Given the description of an element on the screen output the (x, y) to click on. 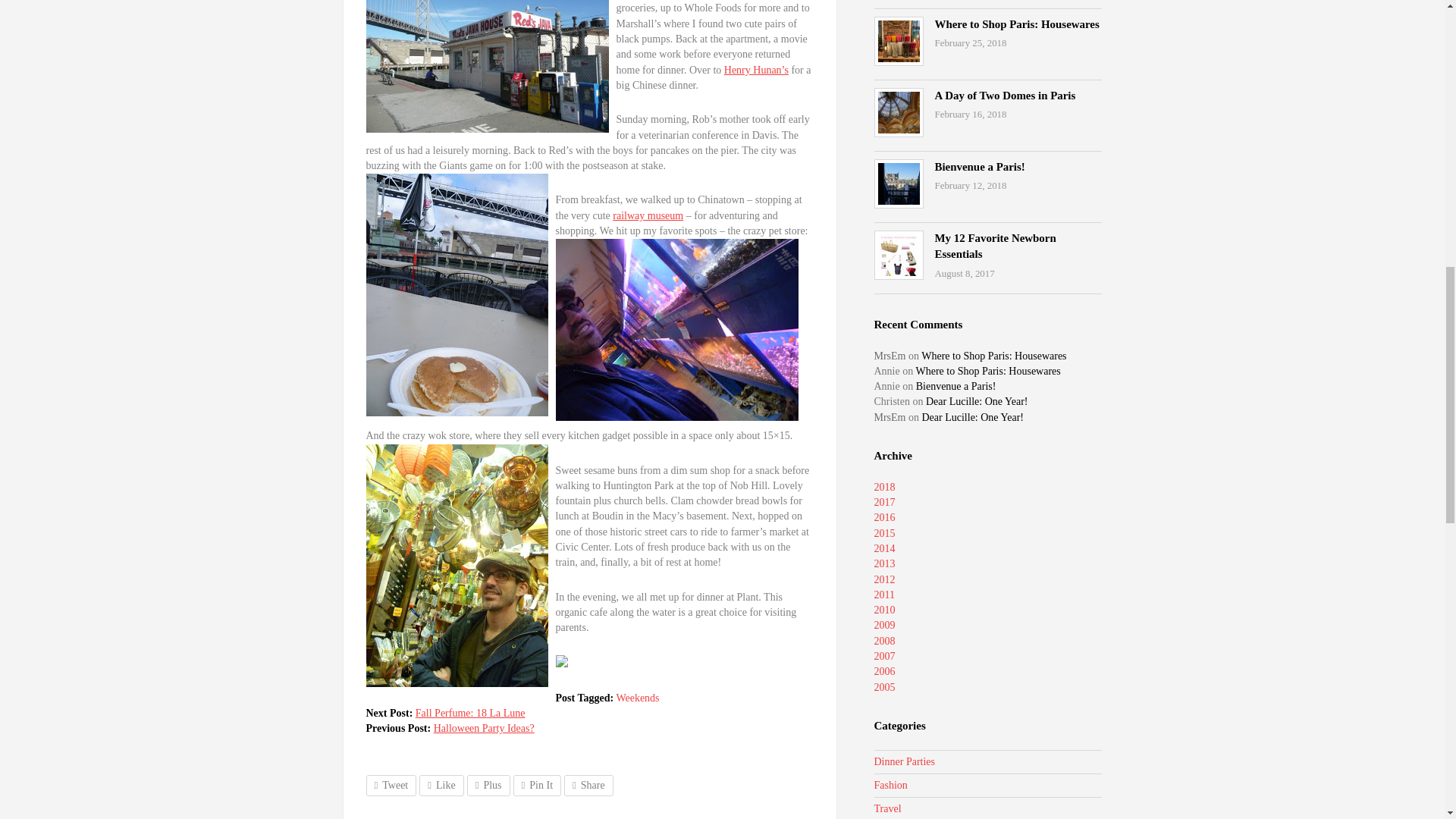
Halloween Party Ideas? (483, 727)
Tweet (390, 785)
Share on Pinterest (536, 785)
railway museum (647, 215)
Share (588, 785)
Weekends (637, 697)
Fall Perfume: 18 La Lune (469, 713)
Plus (489, 785)
Like (441, 785)
Share on Twitter (390, 785)
Share on LinkedIn (588, 785)
Pin It (536, 785)
Share on Facebook (441, 785)
